Given the description of an element on the screen output the (x, y) to click on. 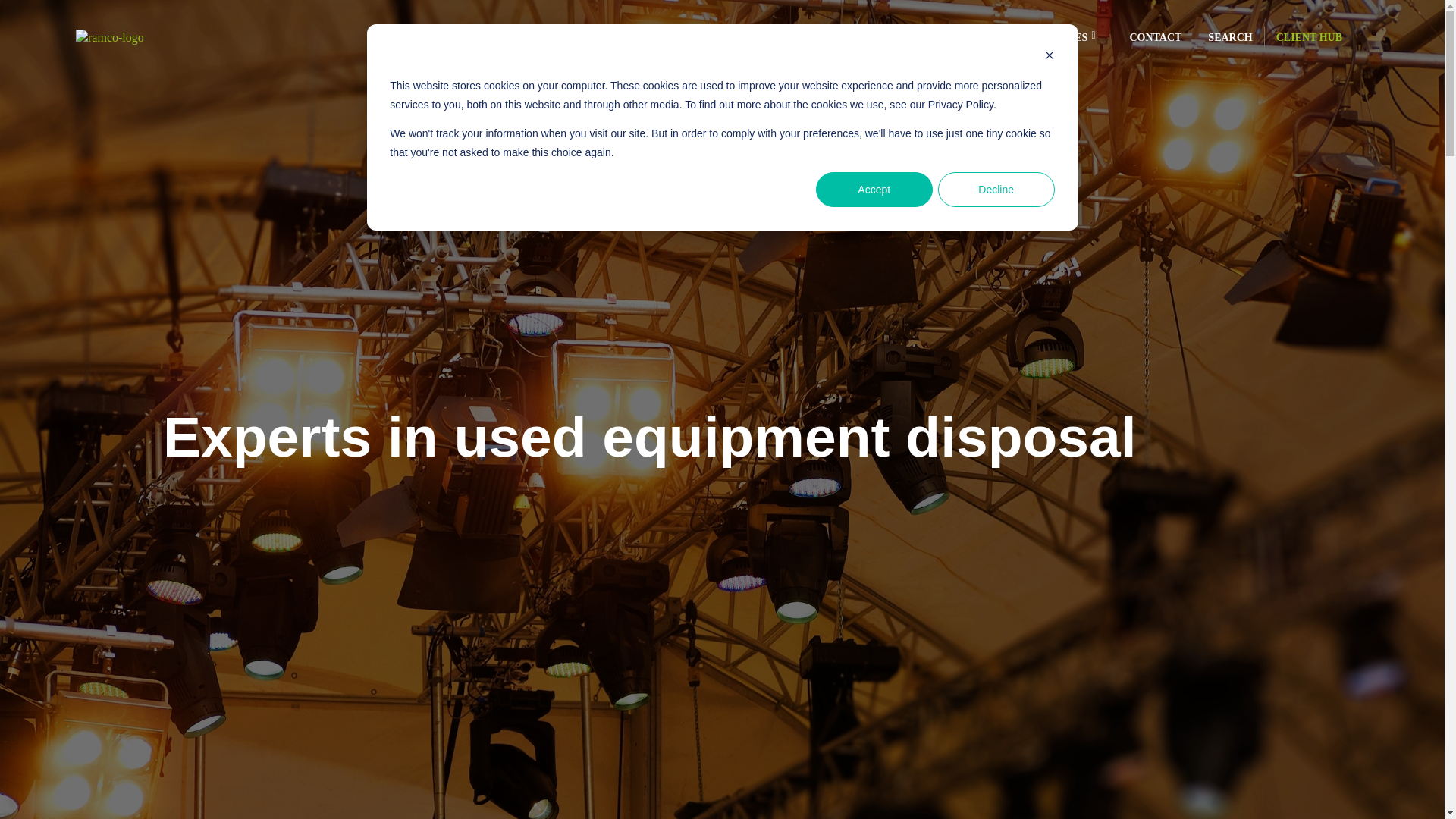
CLIENT HUB (1316, 37)
CONTACT (1154, 37)
ramco-logo (109, 37)
RESOURCES (1055, 37)
SERVICES AND SECTORS (770, 37)
HOME (606, 37)
ABOUT (663, 37)
SEARCH (1233, 37)
